Given the description of an element on the screen output the (x, y) to click on. 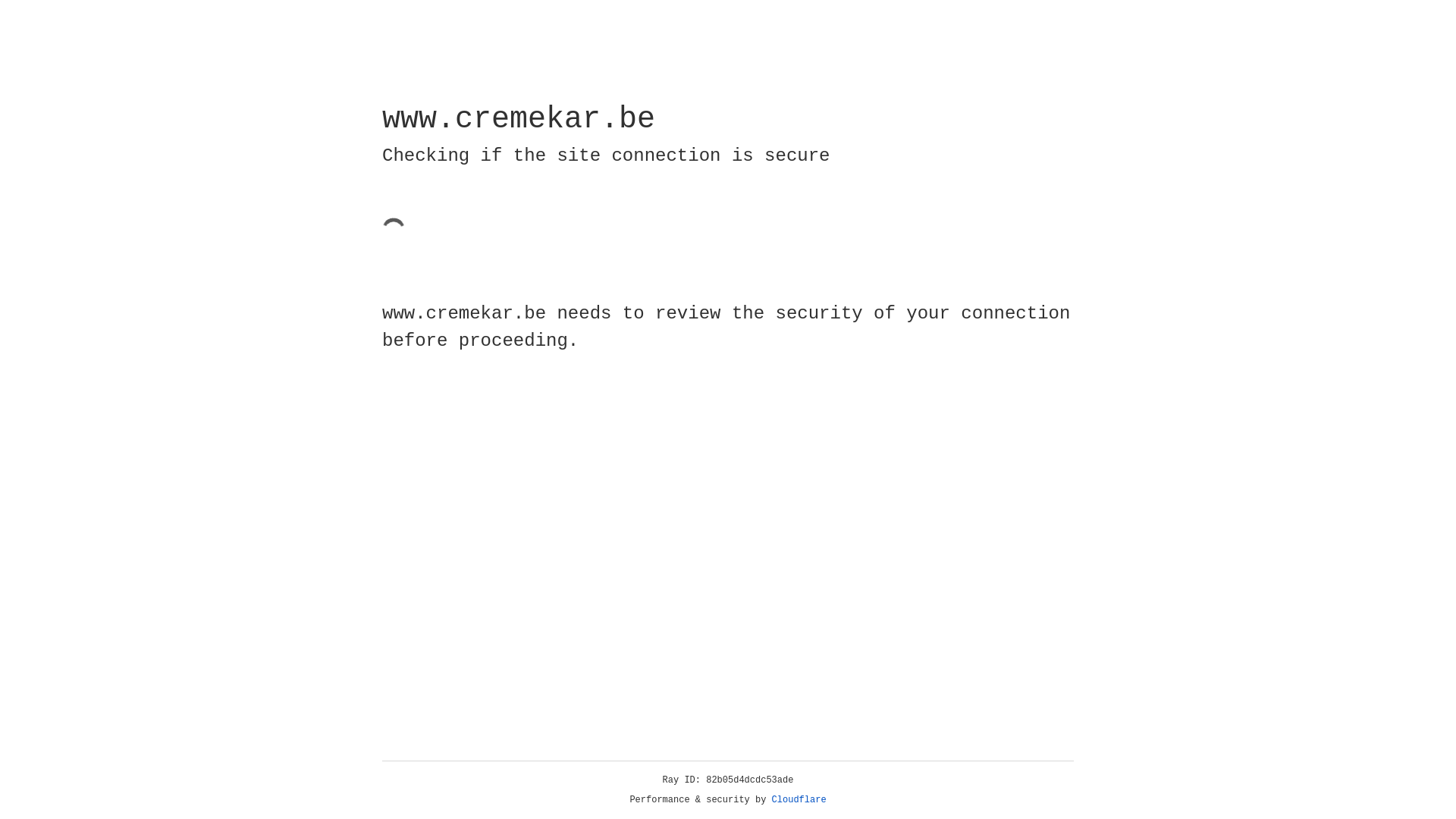
Cloudflare Element type: text (798, 799)
